Given the description of an element on the screen output the (x, y) to click on. 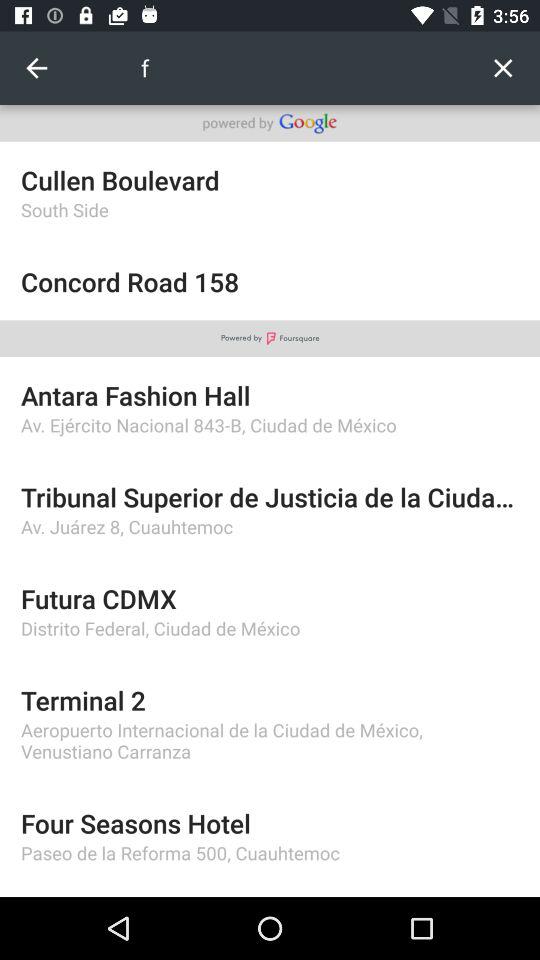
swipe to aeropuerto internacional de (270, 740)
